Given the description of an element on the screen output the (x, y) to click on. 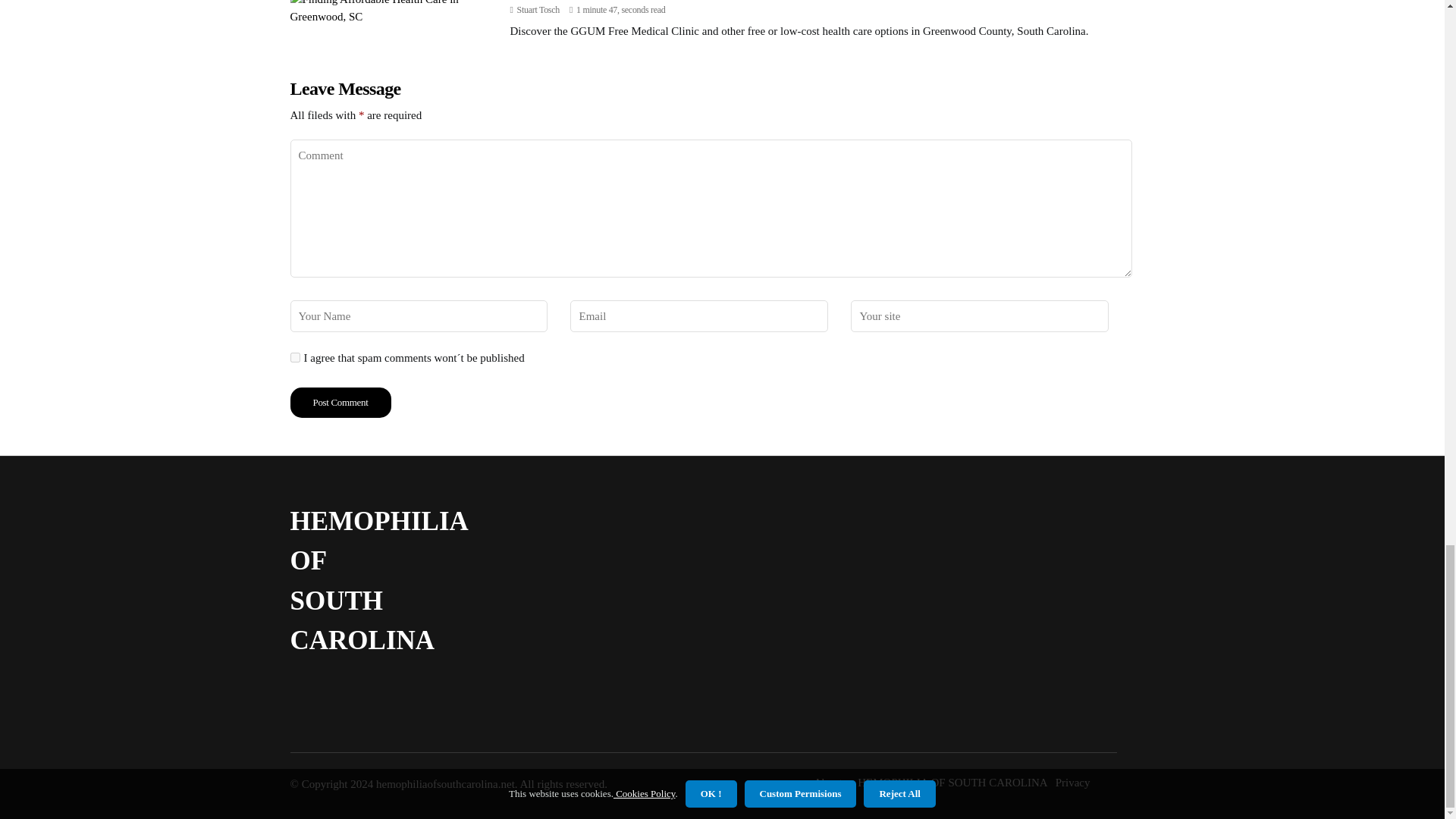
Post Comment (339, 402)
yes (294, 357)
Posts by Stuart Tosch (537, 9)
Stuart Tosch (537, 9)
Post Comment (339, 402)
